Given the description of an element on the screen output the (x, y) to click on. 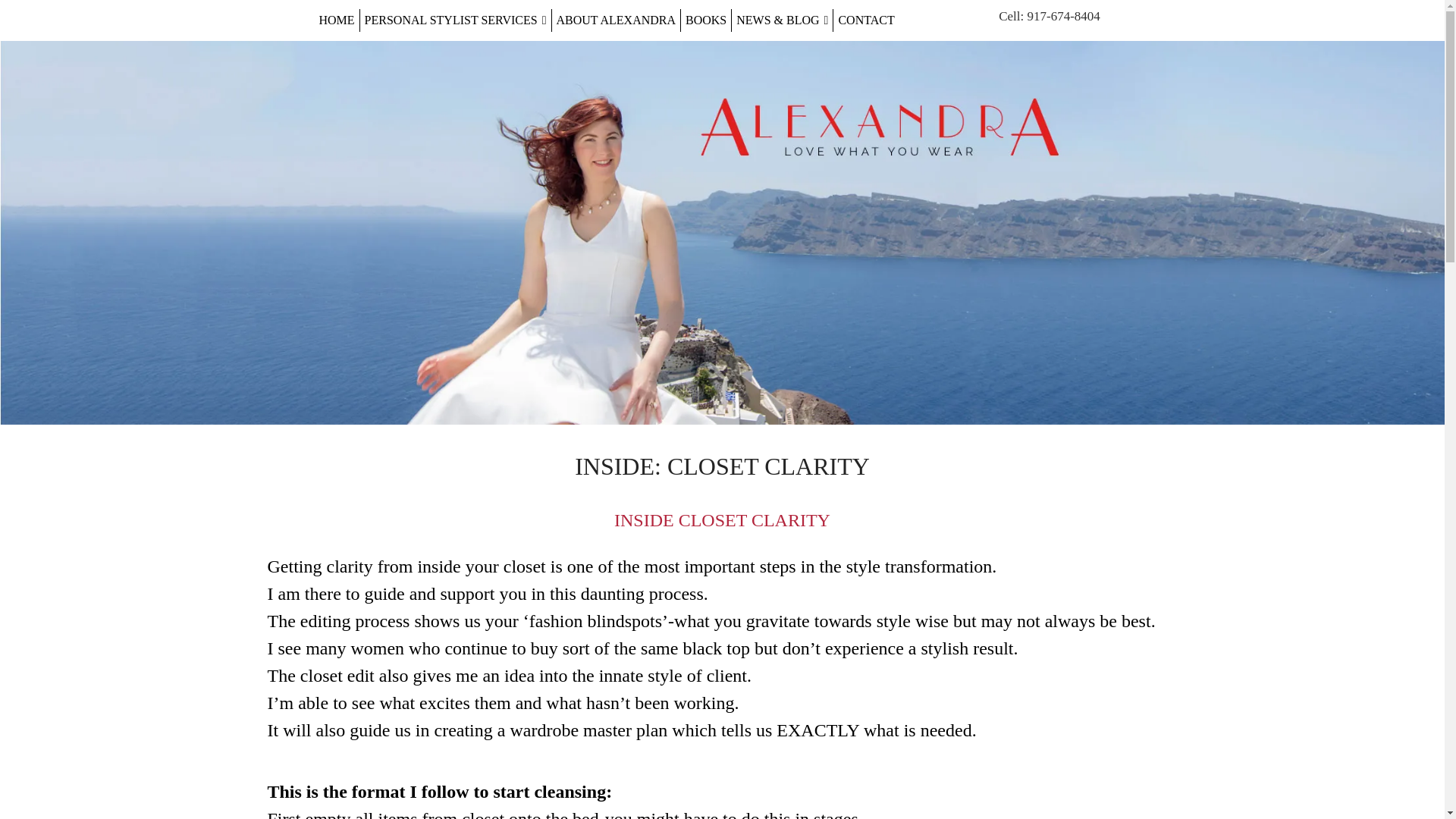
HOME (336, 20)
ABOUT ALEXANDRA (615, 20)
BOOKS (705, 20)
PERSONAL STYLIST SERVICES (455, 20)
CONTACT (865, 20)
